Given the description of an element on the screen output the (x, y) to click on. 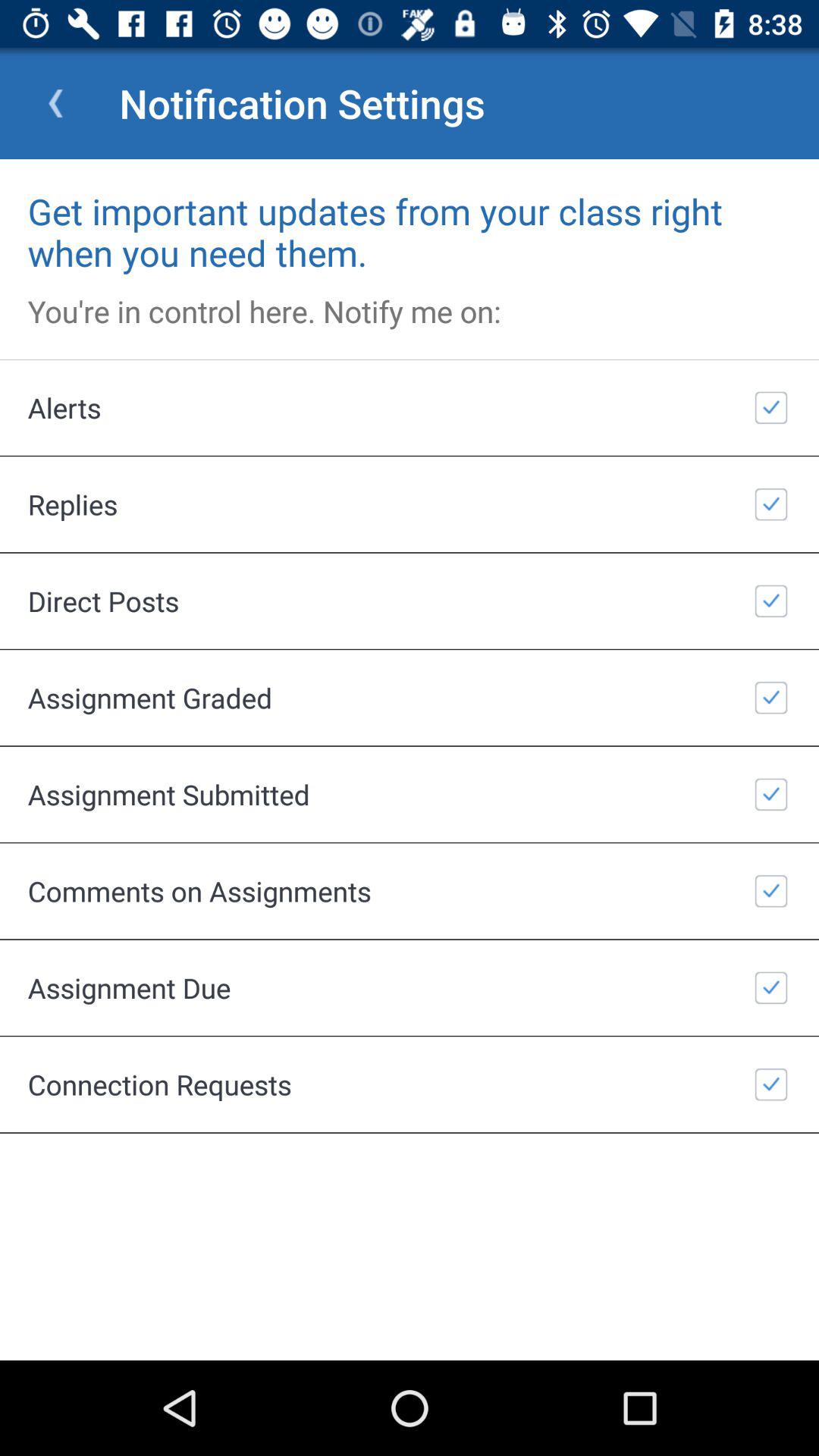
scroll to replies item (409, 504)
